Given the description of an element on the screen output the (x, y) to click on. 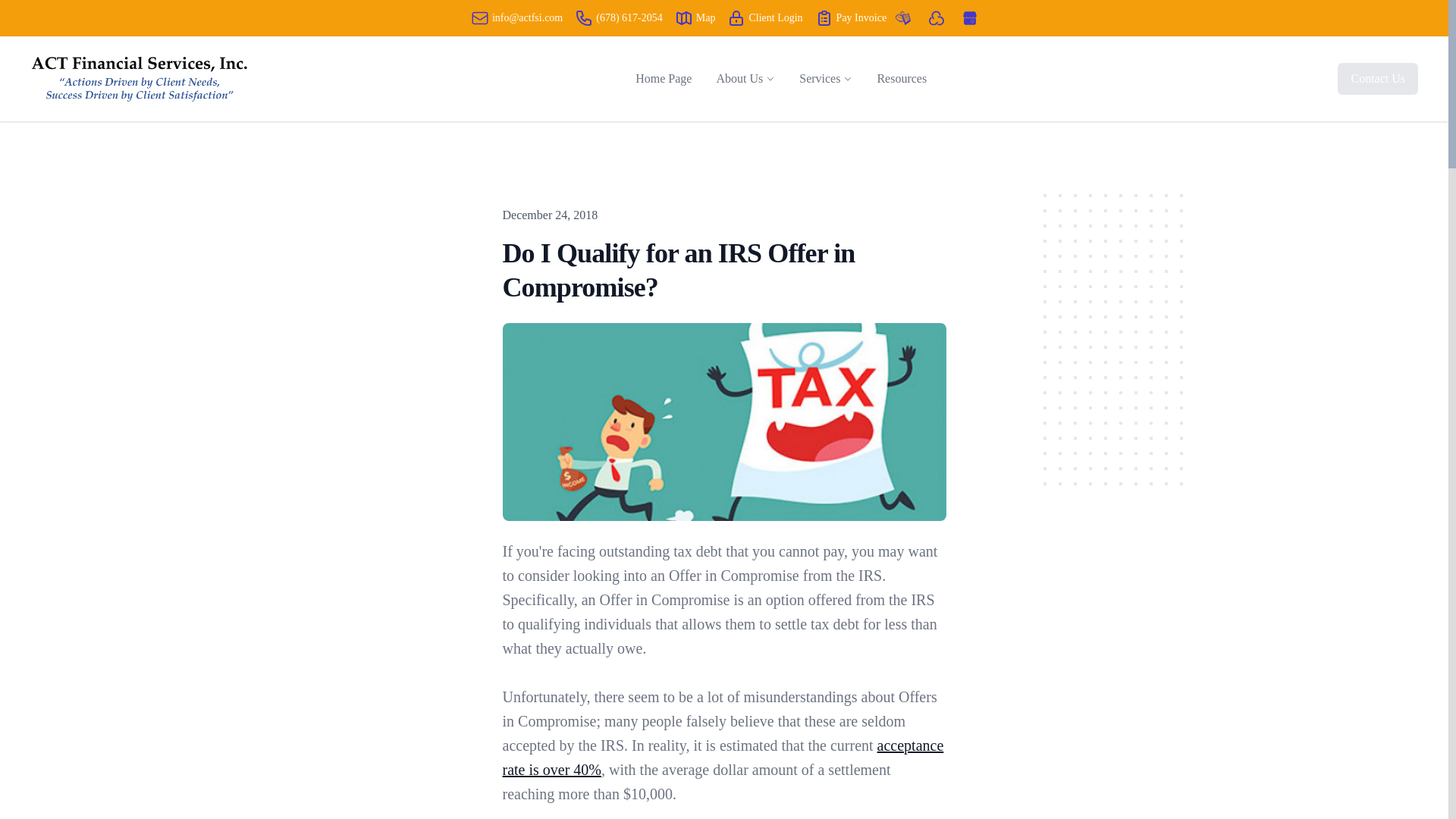
Home Page (663, 78)
Map (695, 18)
Map (684, 18)
Resources (901, 78)
Client Login (735, 18)
Client Login (764, 18)
phone (583, 18)
Google Business Profile (969, 17)
TaxBuzz (903, 17)
ACT Financial Services Inc (139, 78)
